Given the description of an element on the screen output the (x, y) to click on. 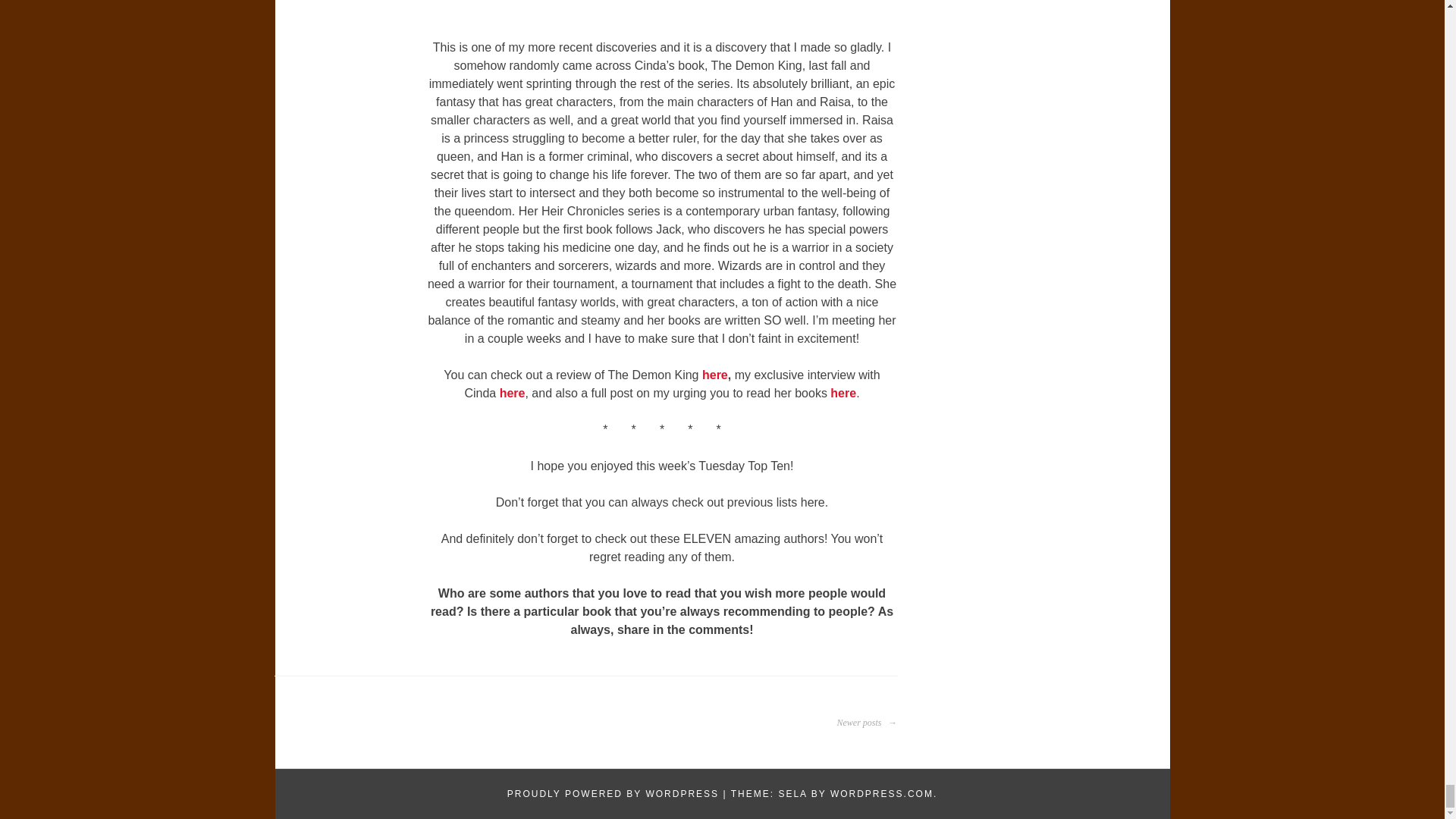
A Semantic Personal Publishing Platform (612, 793)
